Given the description of an element on the screen output the (x, y) to click on. 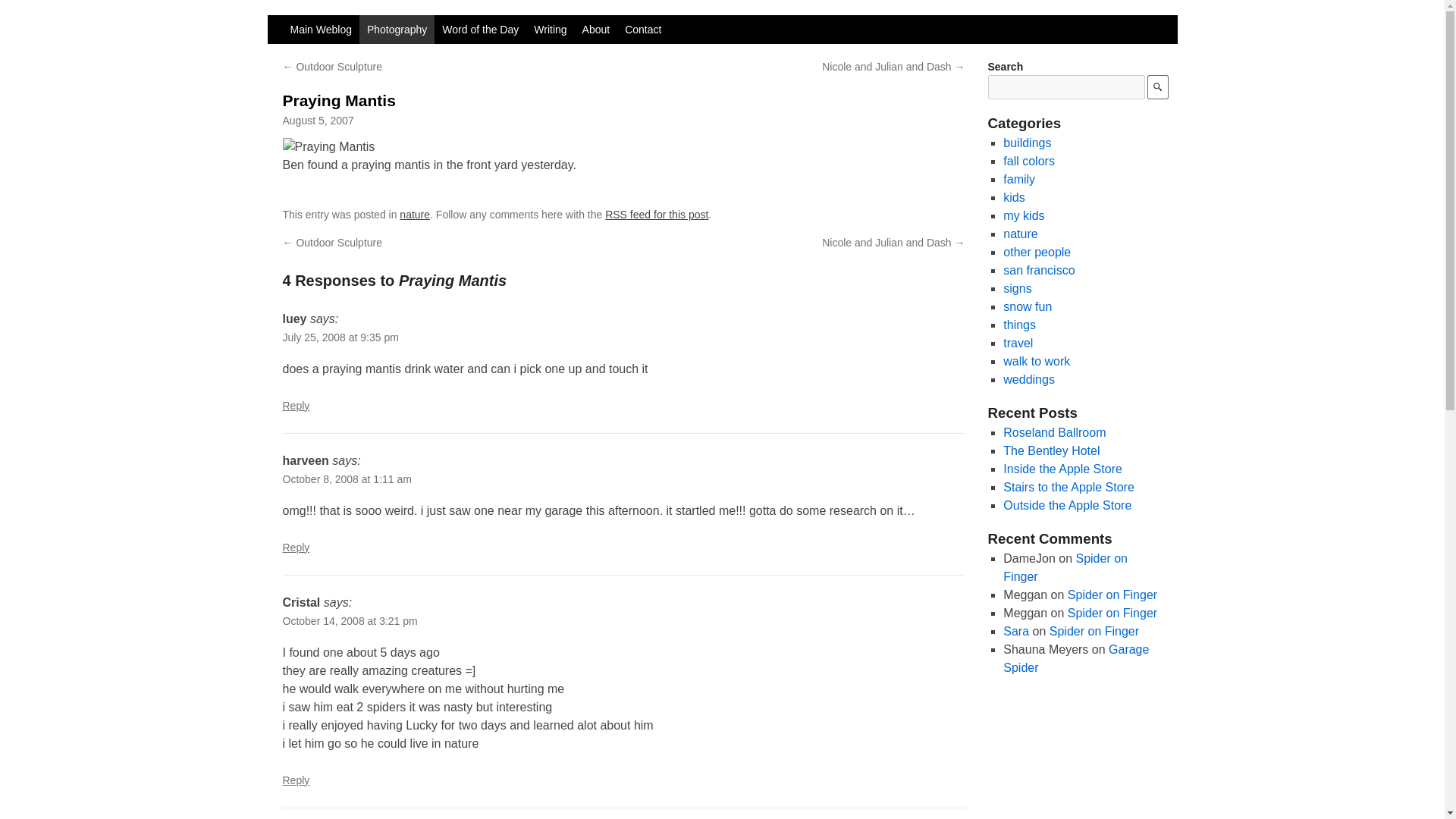
weddings (1028, 379)
other people (1036, 251)
Reply (295, 779)
my kids (1023, 215)
Reply (295, 404)
buildings (1027, 142)
About (596, 29)
Reply (295, 547)
walk to work (1036, 360)
signs (1016, 287)
